Given the description of an element on the screen output the (x, y) to click on. 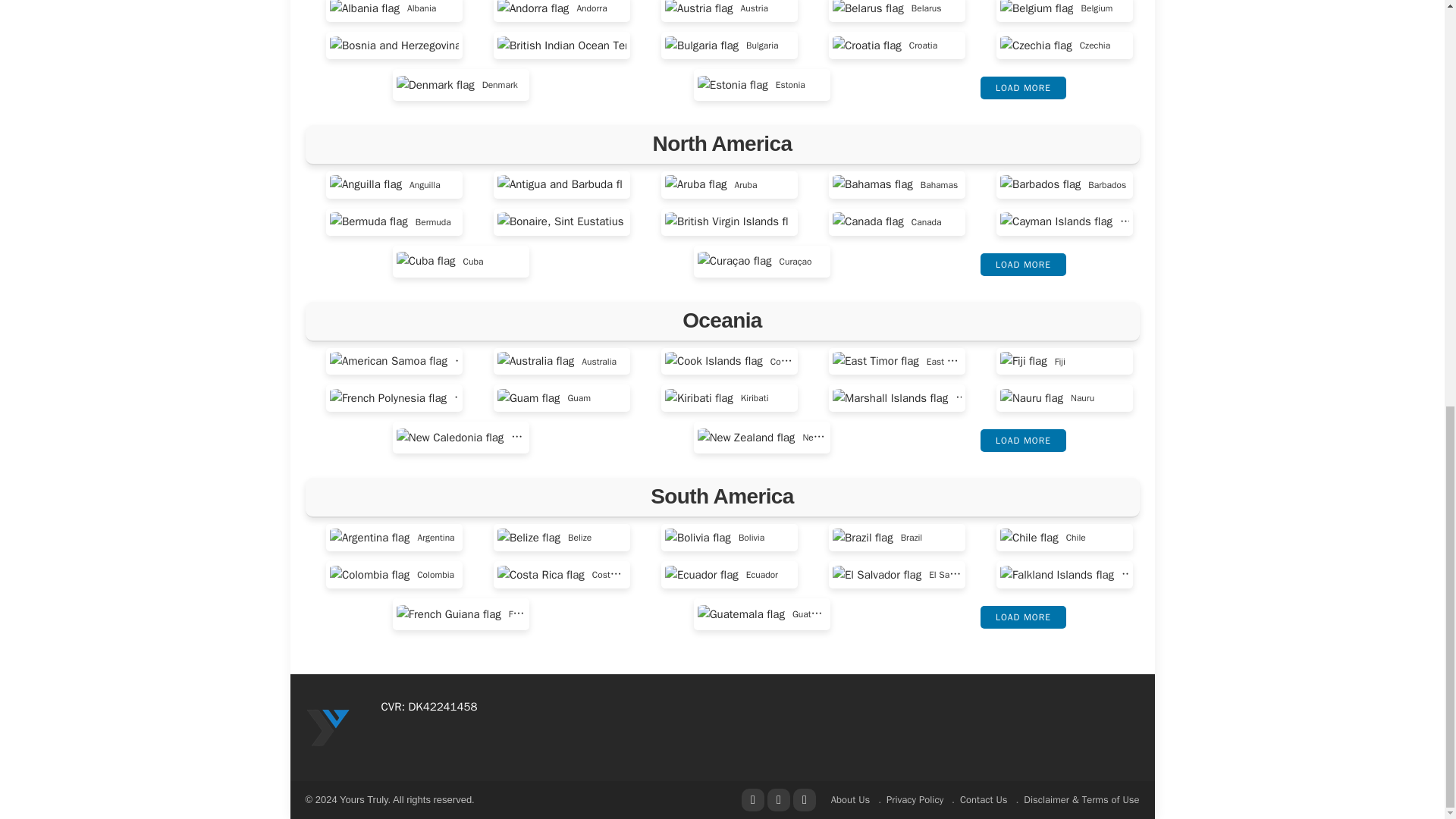
twitter (778, 799)
Yours Truly (327, 726)
facebook (752, 799)
instagram (804, 799)
